Given the description of an element on the screen output the (x, y) to click on. 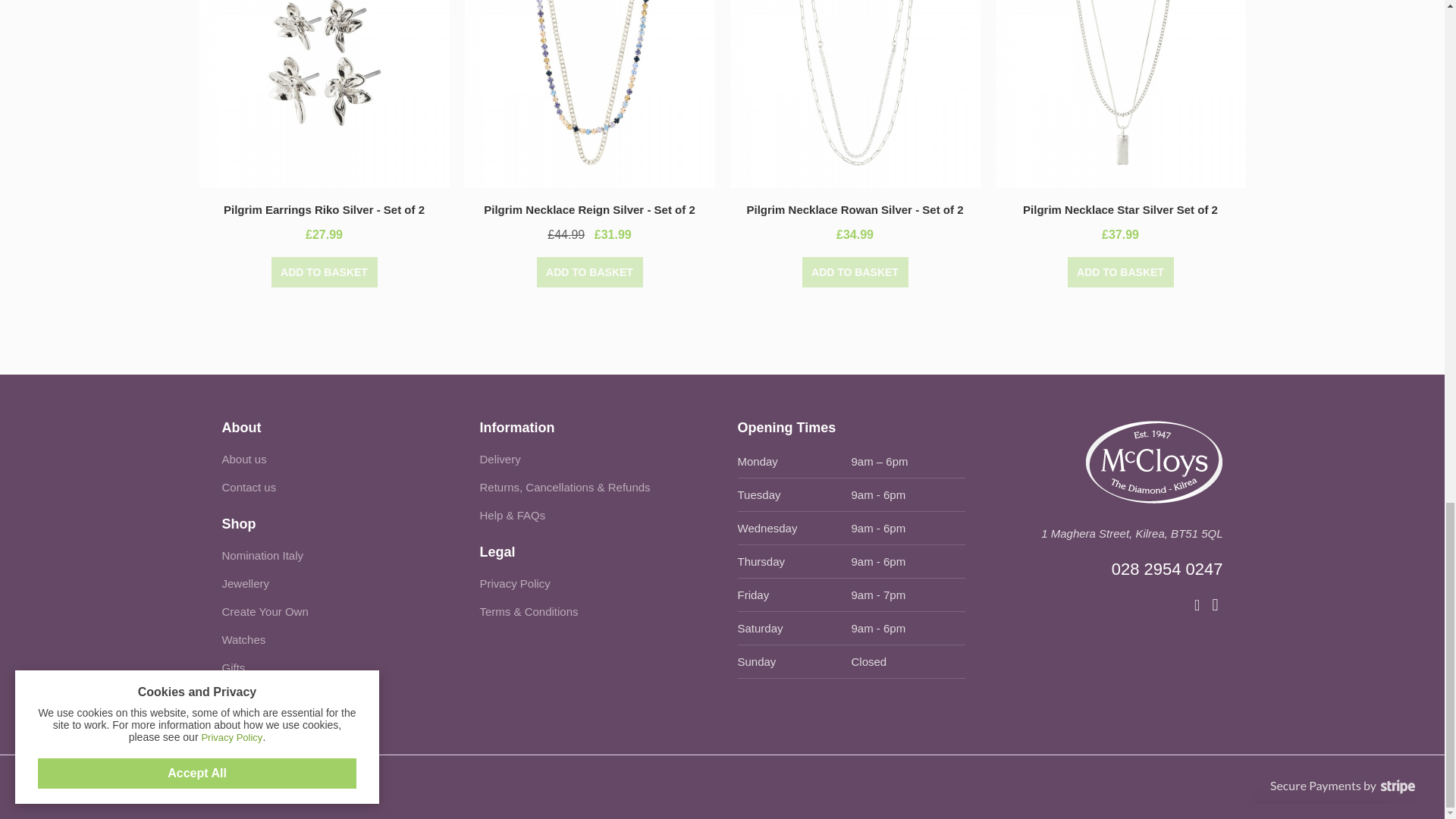
About us (243, 459)
Pilgrim Necklace Star Silver Set of 2 (1120, 209)
Contact us (248, 486)
ADD TO BASKET (590, 272)
Pilgrim Earrings Riko Silver - Set of 2 (324, 209)
Create Your Own (264, 611)
ADD TO BASKET (1120, 272)
ADD TO BASKET (855, 272)
ADD TO BASKET (323, 272)
Nomination Italy (261, 554)
Gifts (232, 667)
Pilgrim Necklace Rowan Silver - Set of 2 (854, 209)
Watches (242, 639)
Pilgrim Necklace Reign Silver - Set of 2 (588, 209)
Jewellery (245, 583)
